Given the description of an element on the screen output the (x, y) to click on. 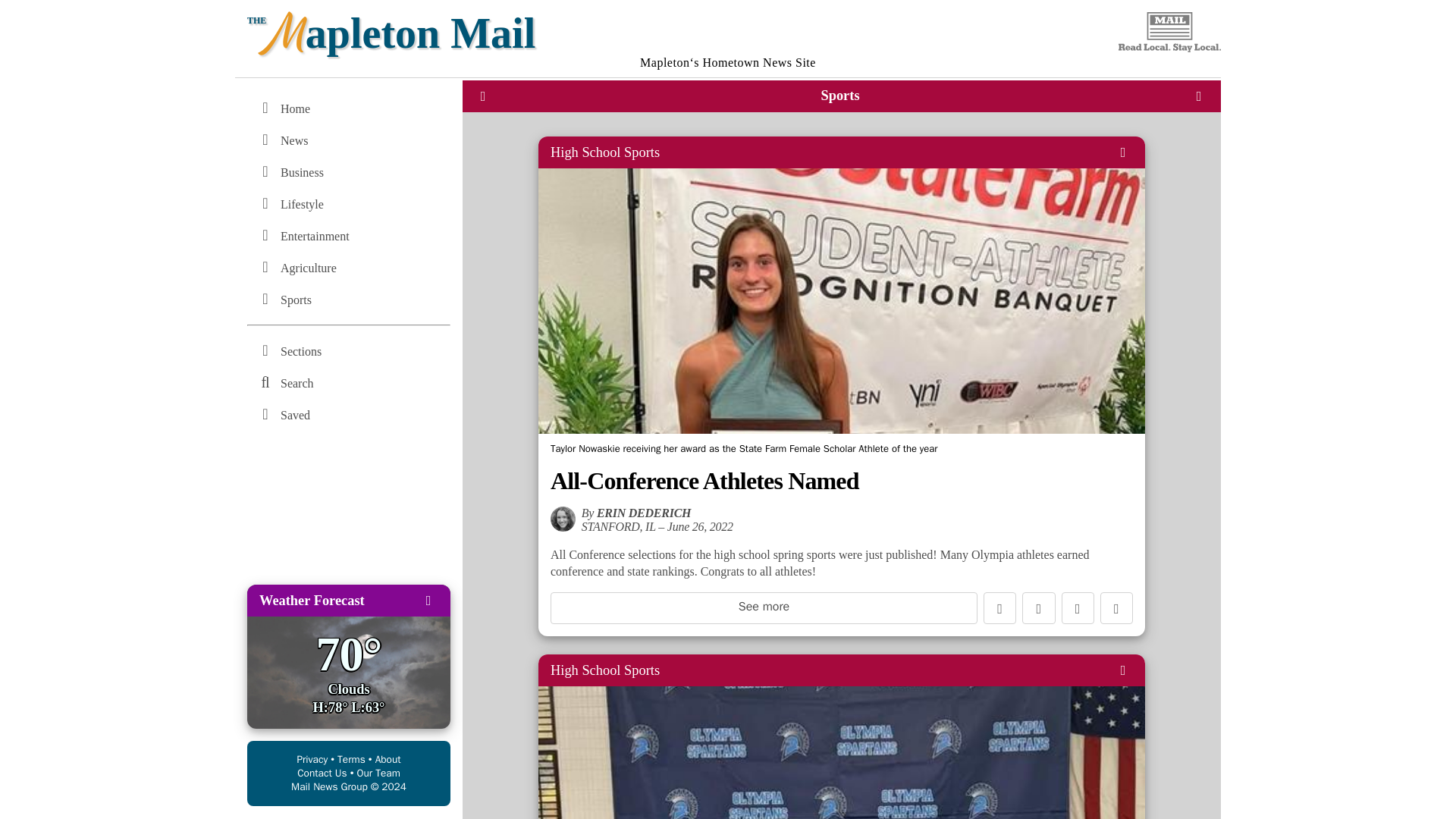
Mapleton Mail (727, 27)
